Given the description of an element on the screen output the (x, y) to click on. 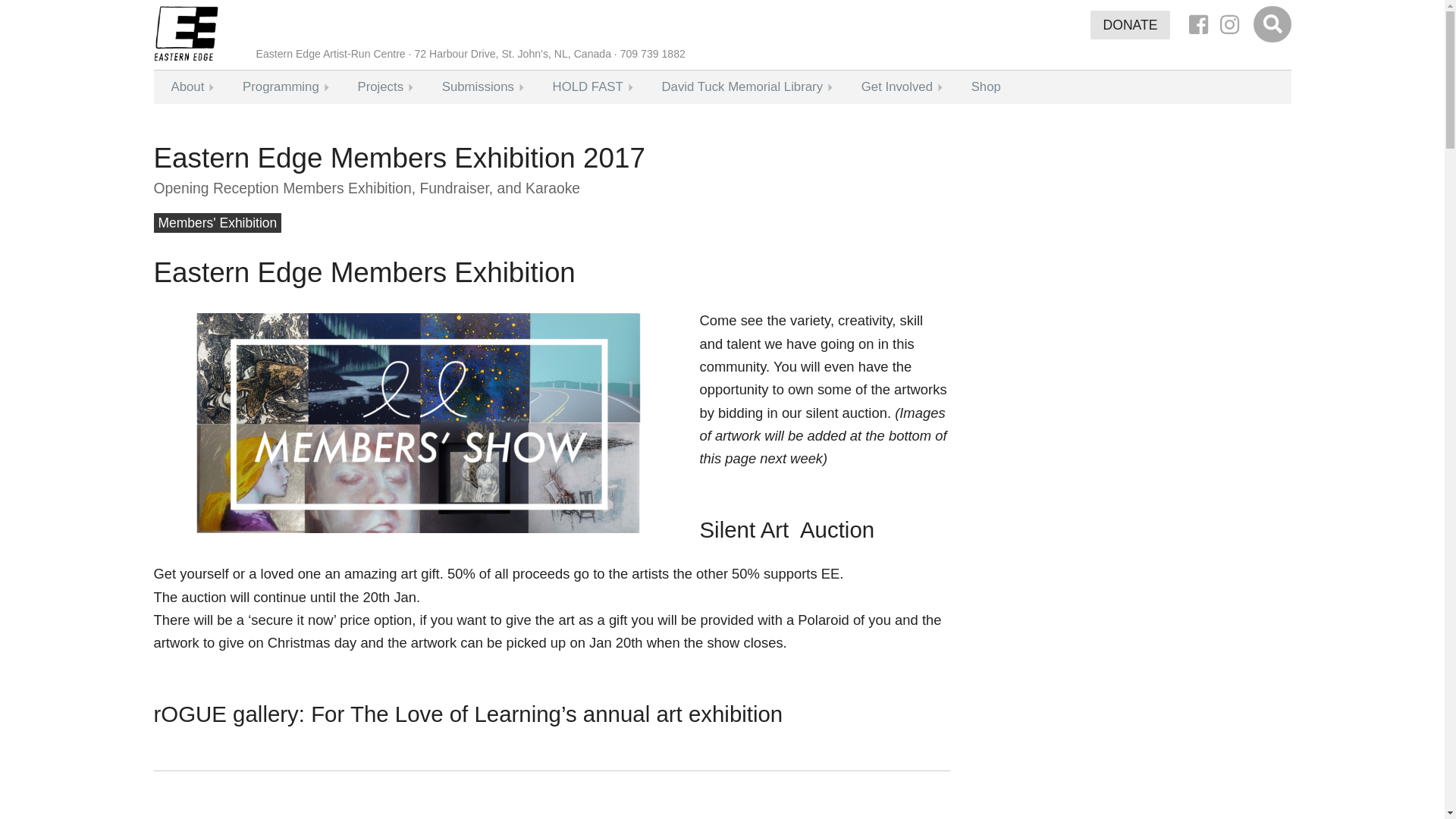
HOLD FAST (587, 87)
Search (1272, 25)
Search (1272, 25)
Programming (280, 87)
Search (1272, 25)
Projects (379, 87)
Submissions (478, 87)
About (186, 87)
